Given the description of an element on the screen output the (x, y) to click on. 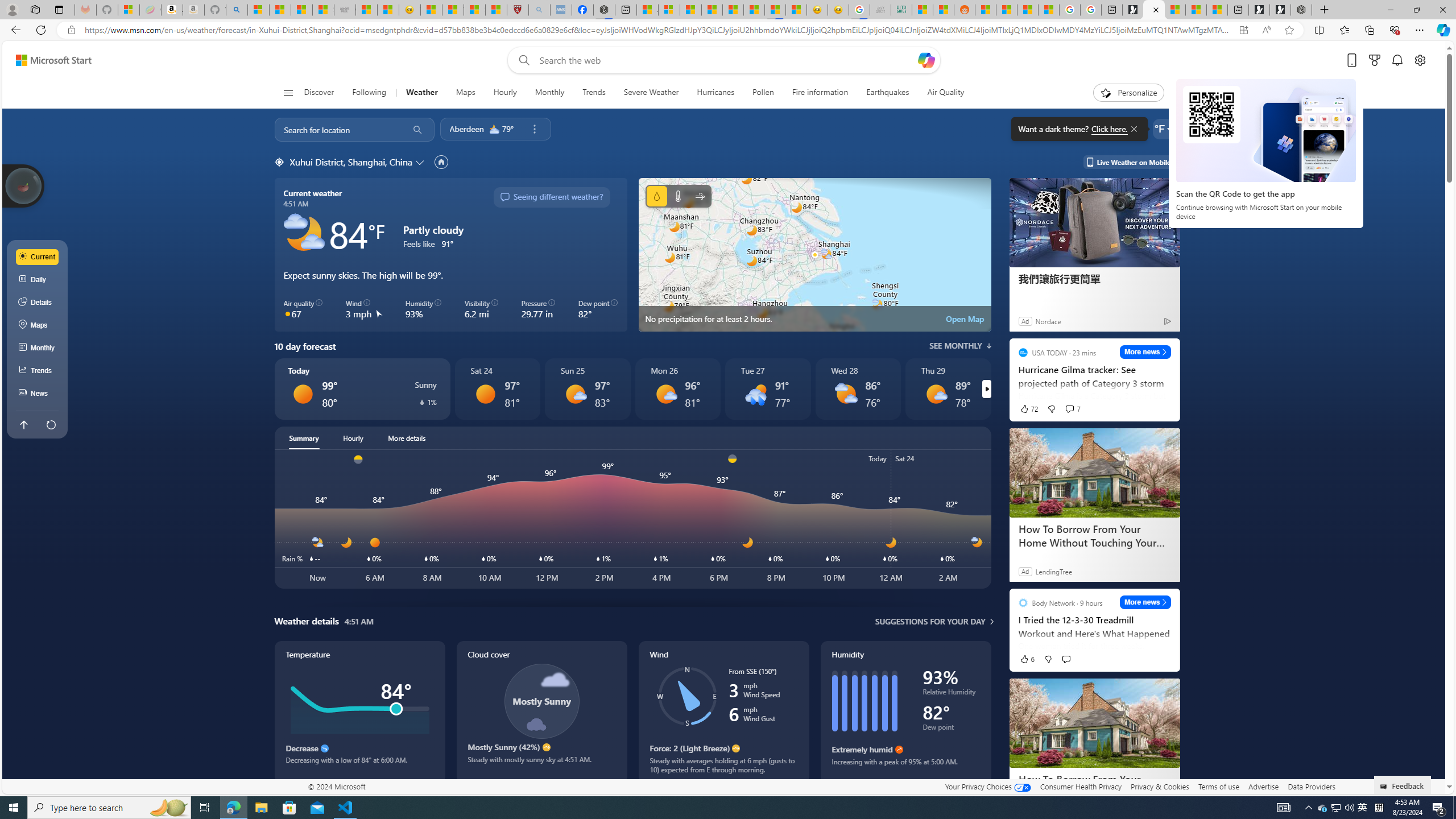
More news (1144, 602)
Steady with mostly sunny sky at 4:51 AM. (541, 764)
Visibility 6.2 mi (480, 309)
Join us in planting real trees to help our planet! (23, 185)
Earthquakes (888, 92)
